Given the description of an element on the screen output the (x, y) to click on. 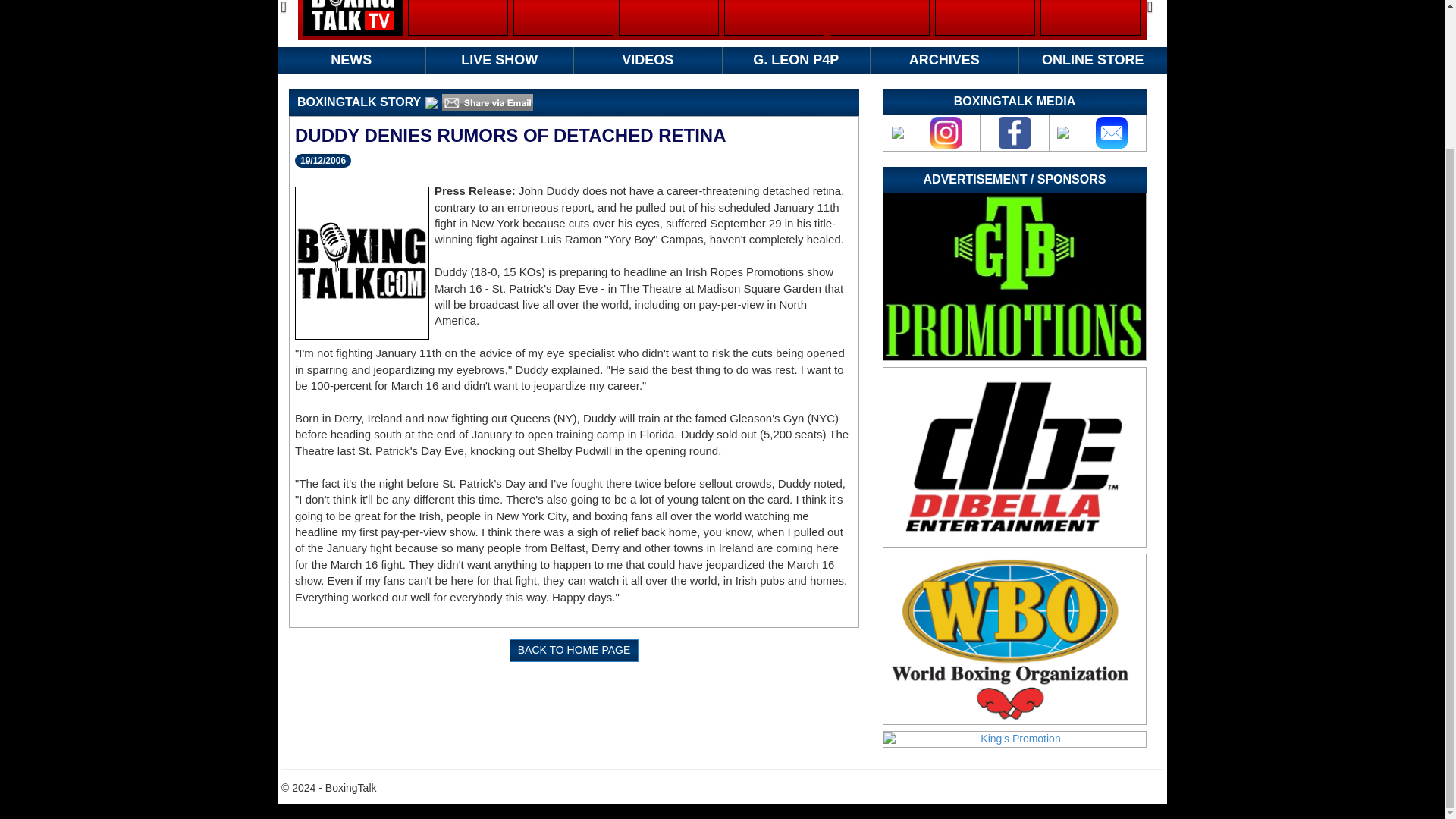
World Boxing Organization (1014, 638)
Dibella Entertainment (1014, 457)
BoxingTalk TV (352, 18)
TGB Promotions 2 (1014, 276)
King's Promotion (1014, 739)
